Given the description of an element on the screen output the (x, y) to click on. 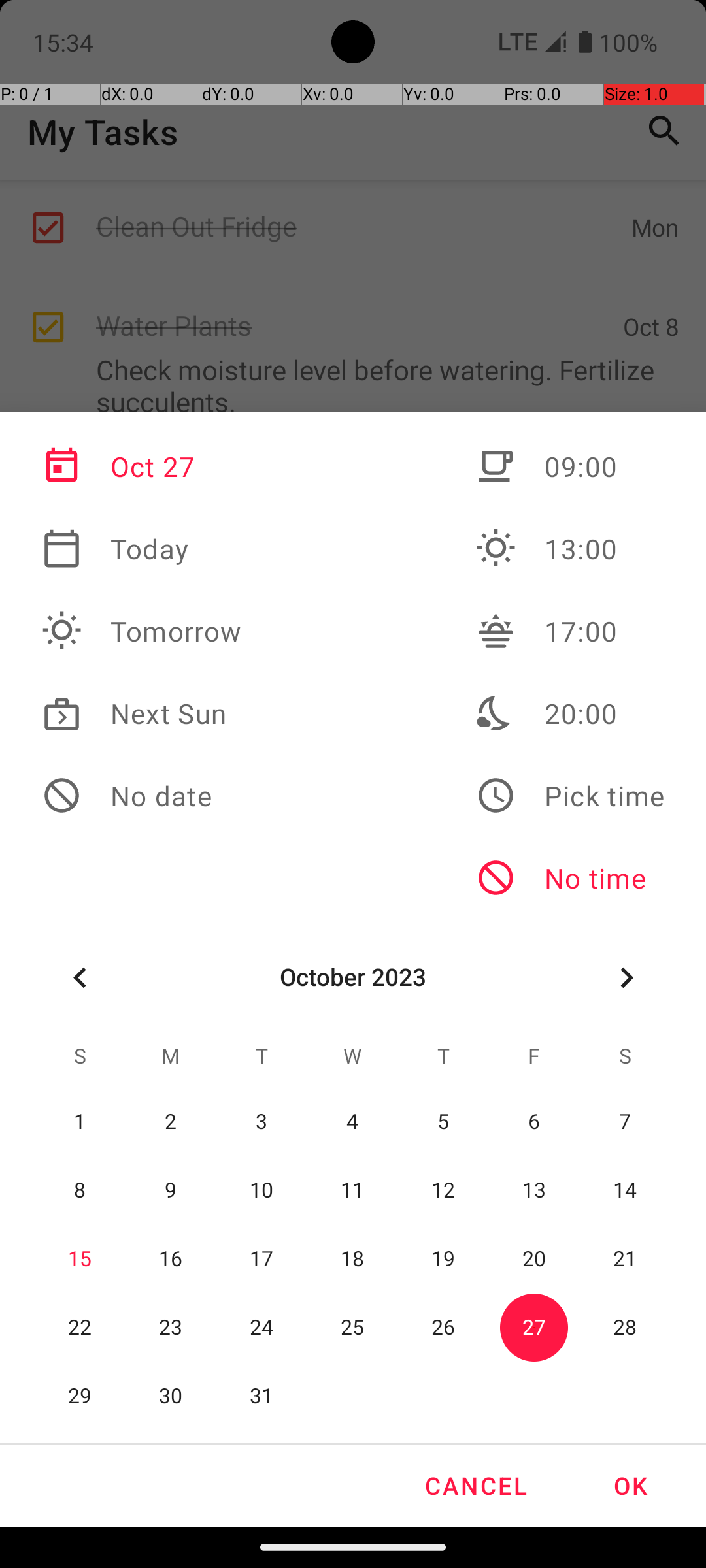
Oct 27 Element type: android.widget.CompoundButton (141, 466)
